Given the description of an element on the screen output the (x, y) to click on. 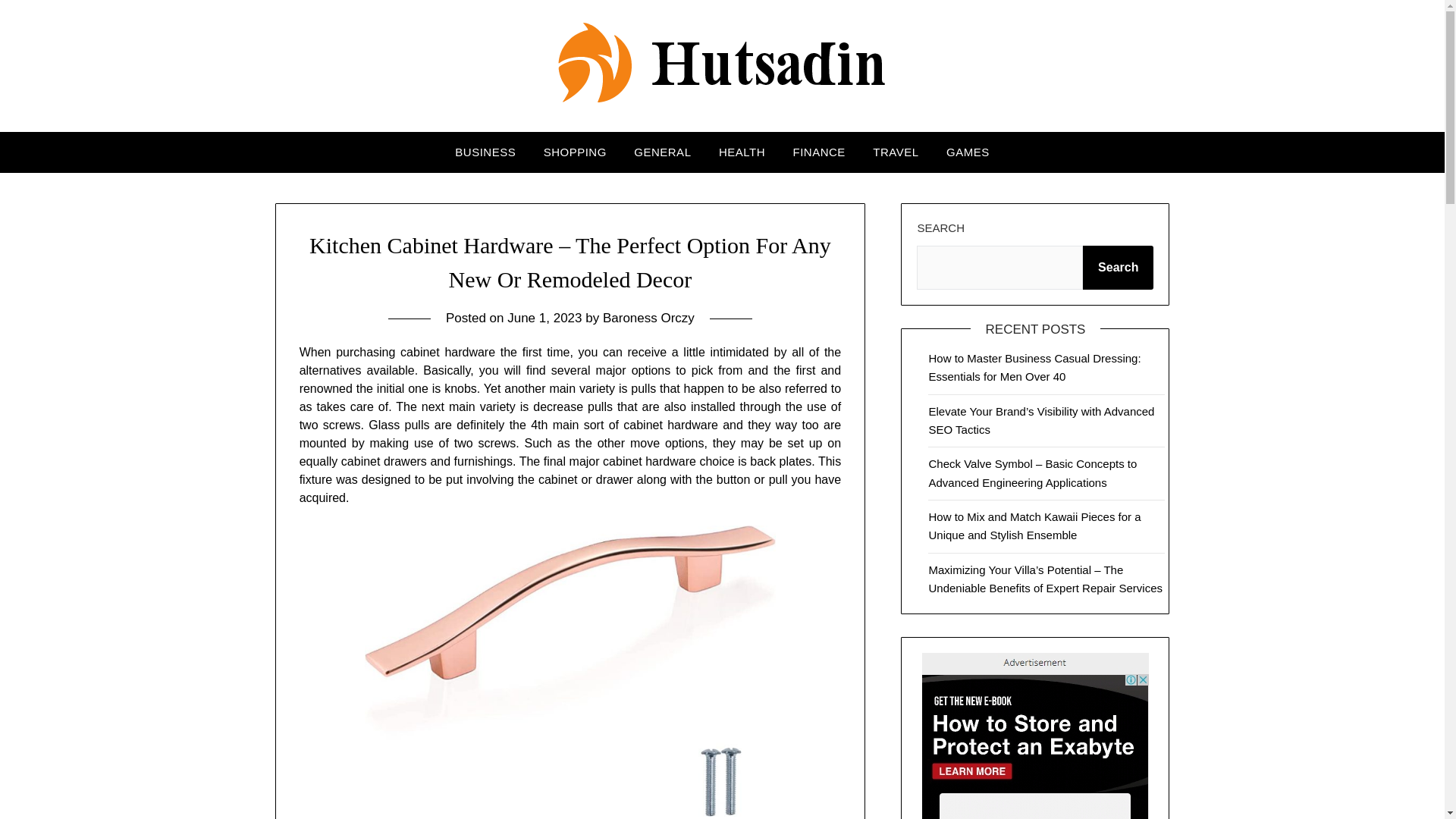
June 1, 2023 (543, 318)
GAMES (967, 151)
SHOPPING (574, 151)
HEALTH (741, 151)
FINANCE (818, 151)
Baroness Orczy (648, 318)
TRAVEL (895, 151)
BUSINESS (484, 151)
